Given the description of an element on the screen output the (x, y) to click on. 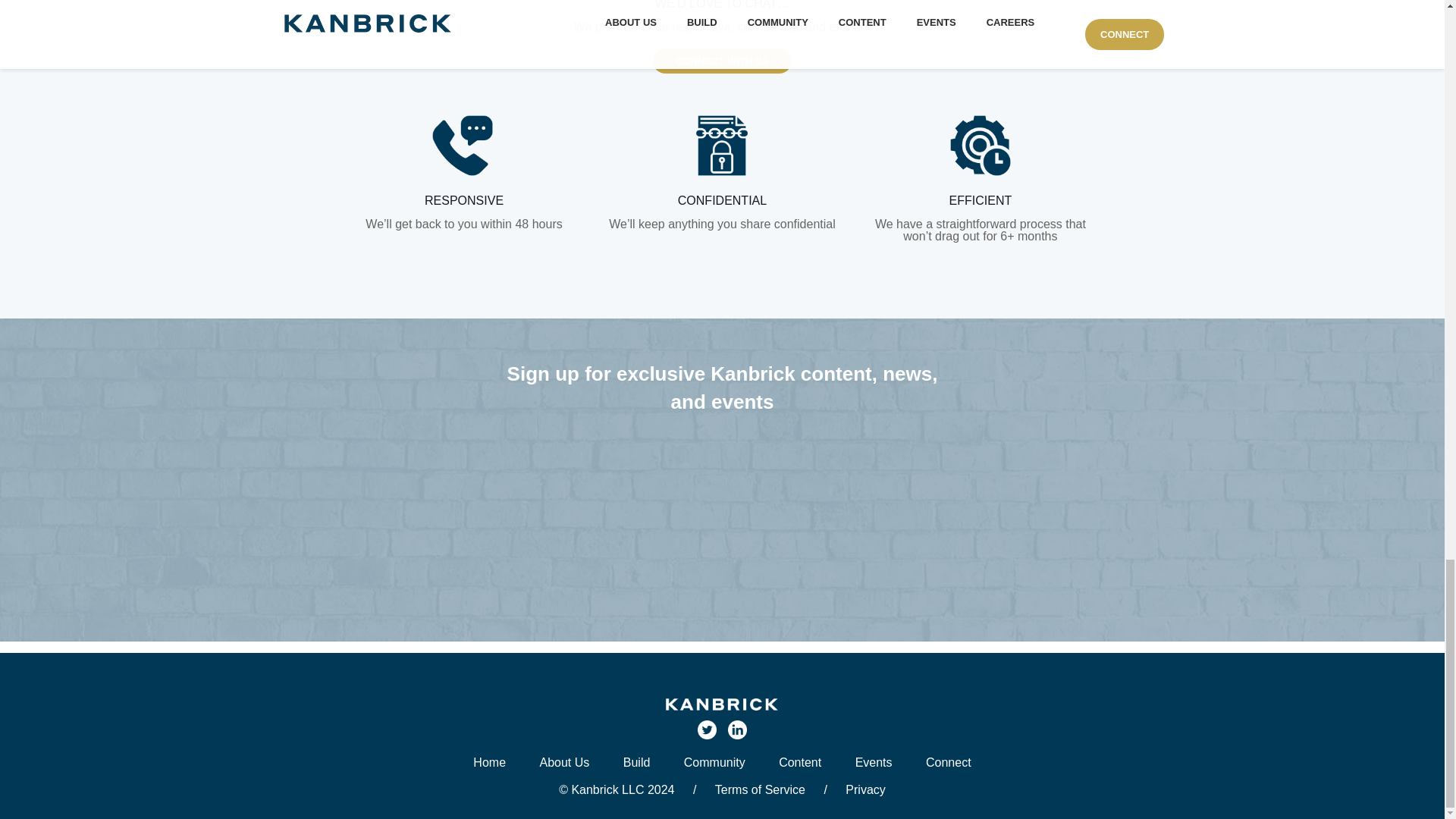
Connect (948, 762)
About Us (563, 762)
Community (714, 762)
CONNECT WITH US (722, 60)
Terms of Service (759, 789)
Events (874, 762)
Home (489, 762)
Content (799, 762)
Privacy (865, 789)
Build (636, 762)
